Given the description of an element on the screen output the (x, y) to click on. 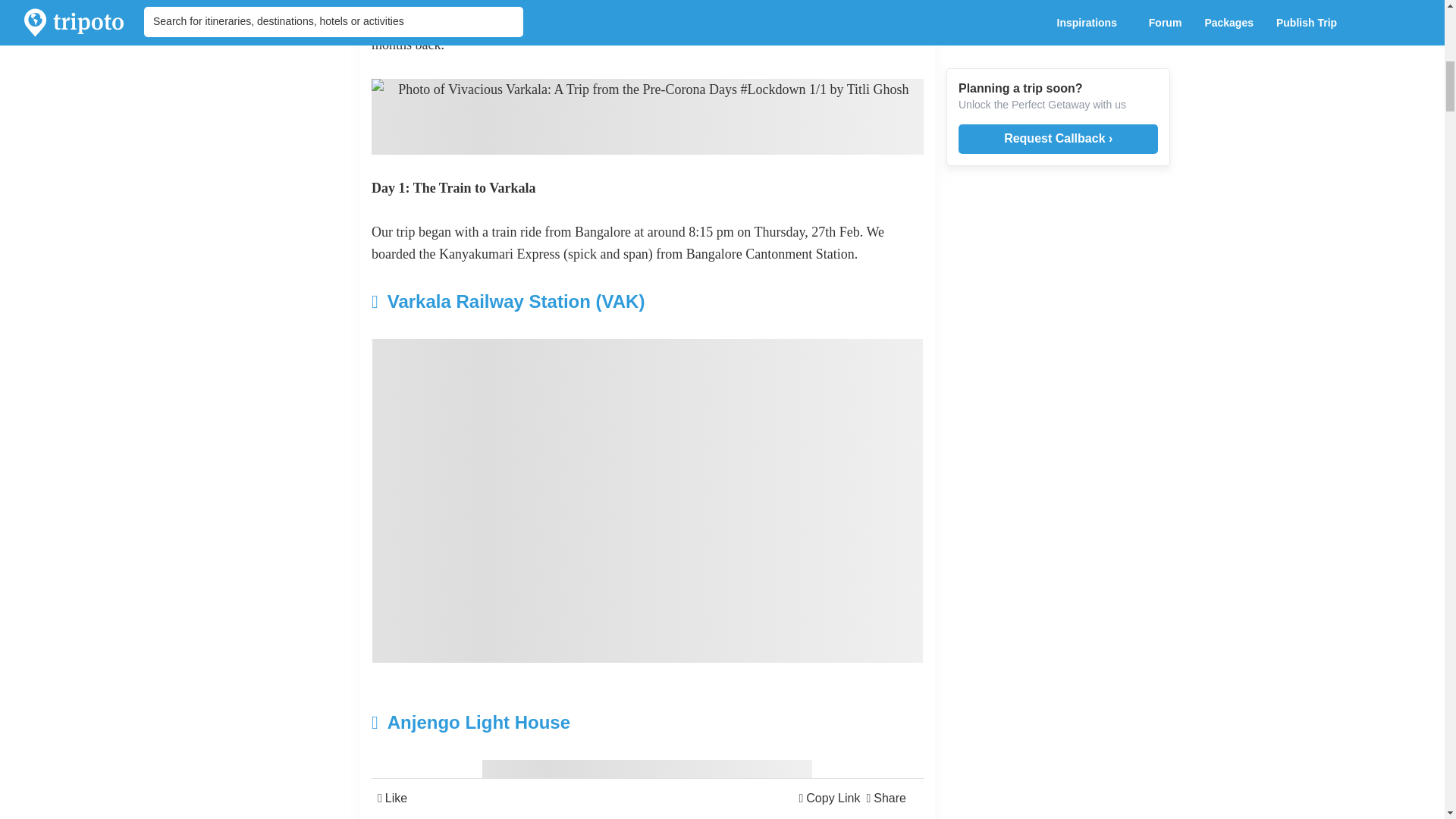
Anjengo Light House (555, 722)
